Given the description of an element on the screen output the (x, y) to click on. 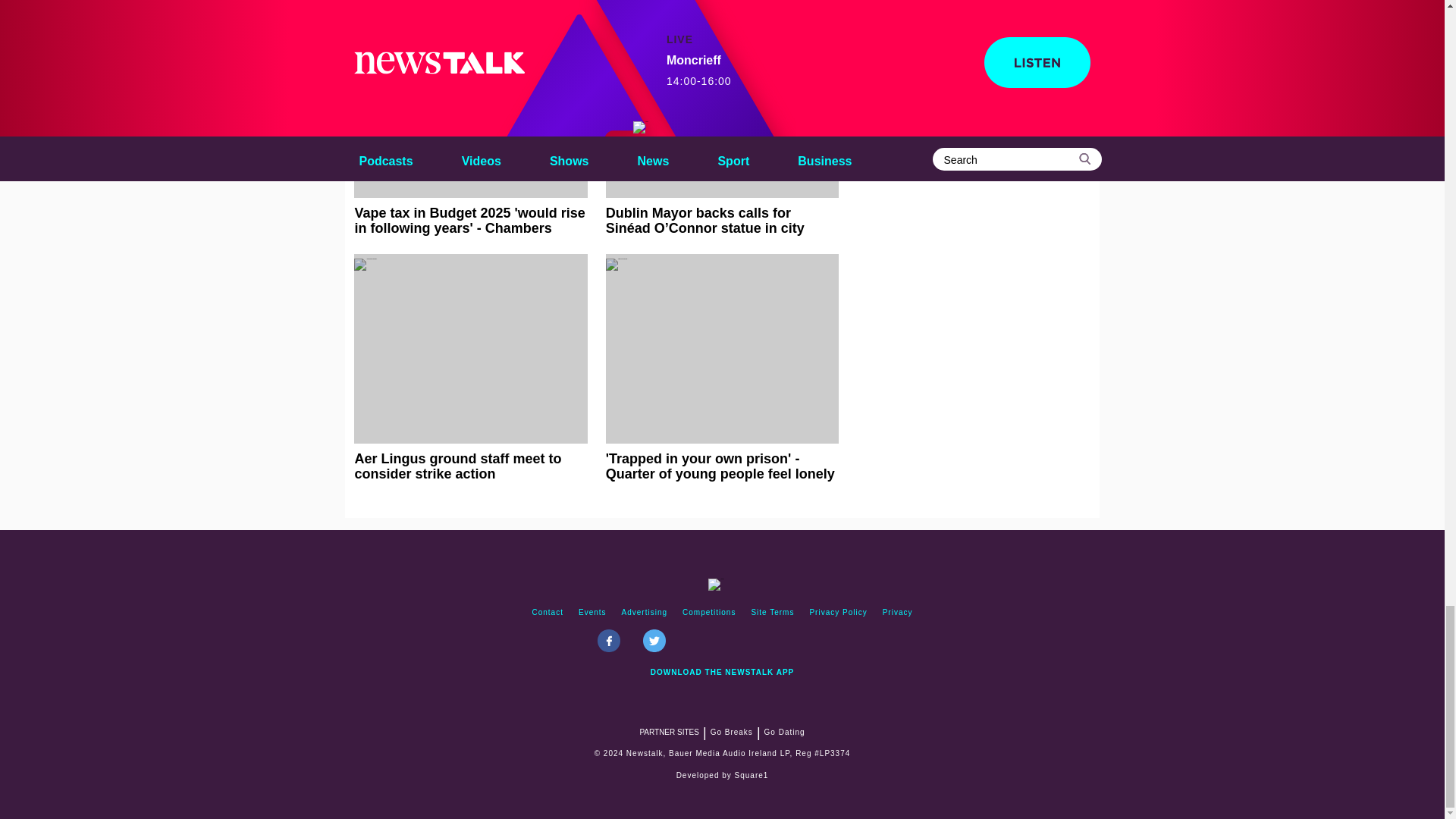
Aer Lingus ground staff meet to consider strike action (469, 367)
competitions (708, 612)
contact (547, 612)
site terms (772, 612)
events (592, 612)
advertising (644, 612)
Privacy (897, 612)
Privacy Policy (838, 612)
